Given the description of an element on the screen output the (x, y) to click on. 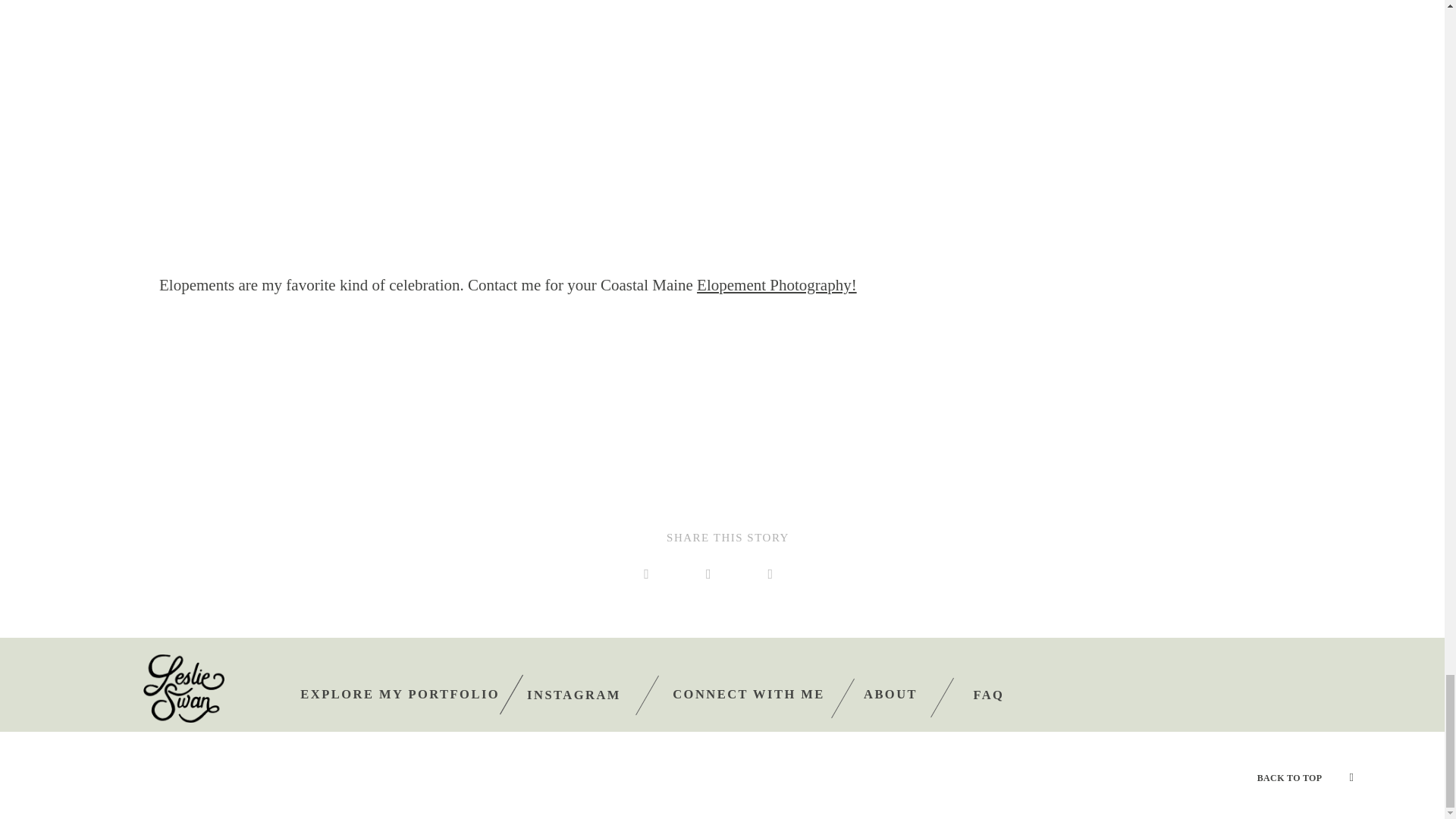
EXPLORE MY PORTFOLIO (399, 694)
Elopement Photography! (777, 285)
BACK TO TOP (1289, 777)
CONNECT WITH ME (748, 694)
BACK TO TOP (1305, 775)
